Given the description of an element on the screen output the (x, y) to click on. 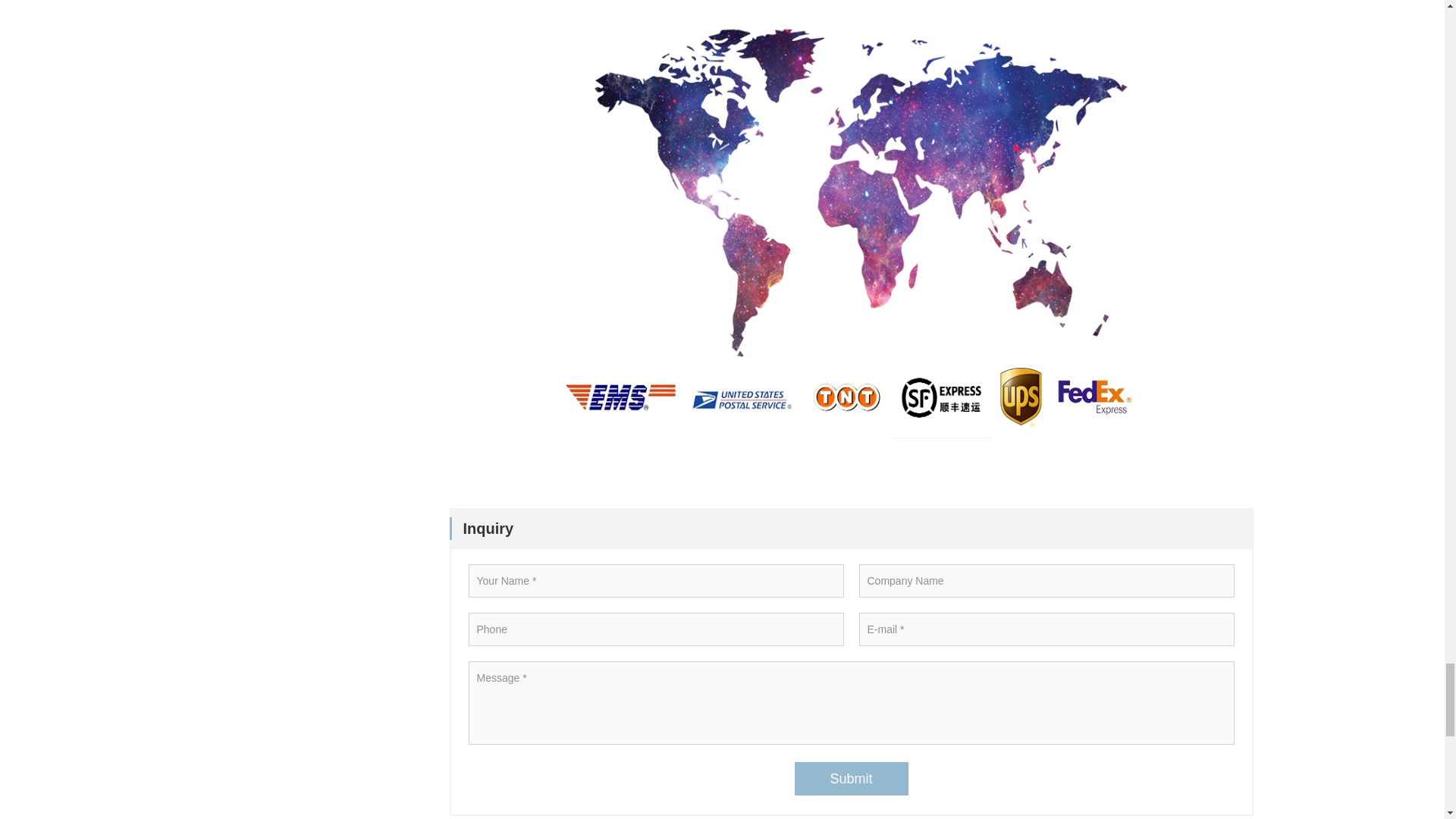
Submit (851, 778)
